Given the description of an element on the screen output the (x, y) to click on. 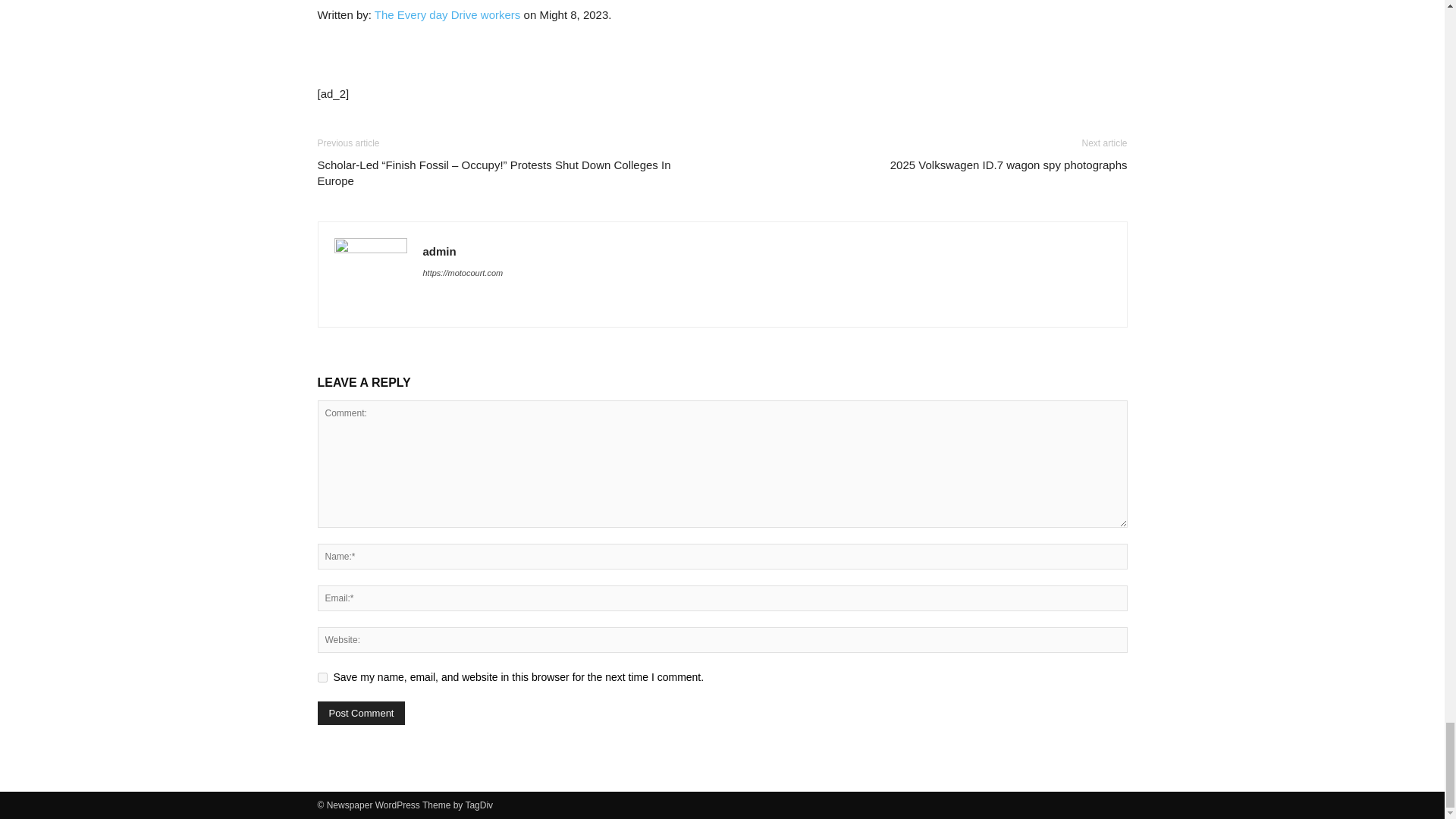
Post Comment (360, 712)
More about The Daily Drive staff  (447, 14)
yes (321, 677)
